Given the description of an element on the screen output the (x, y) to click on. 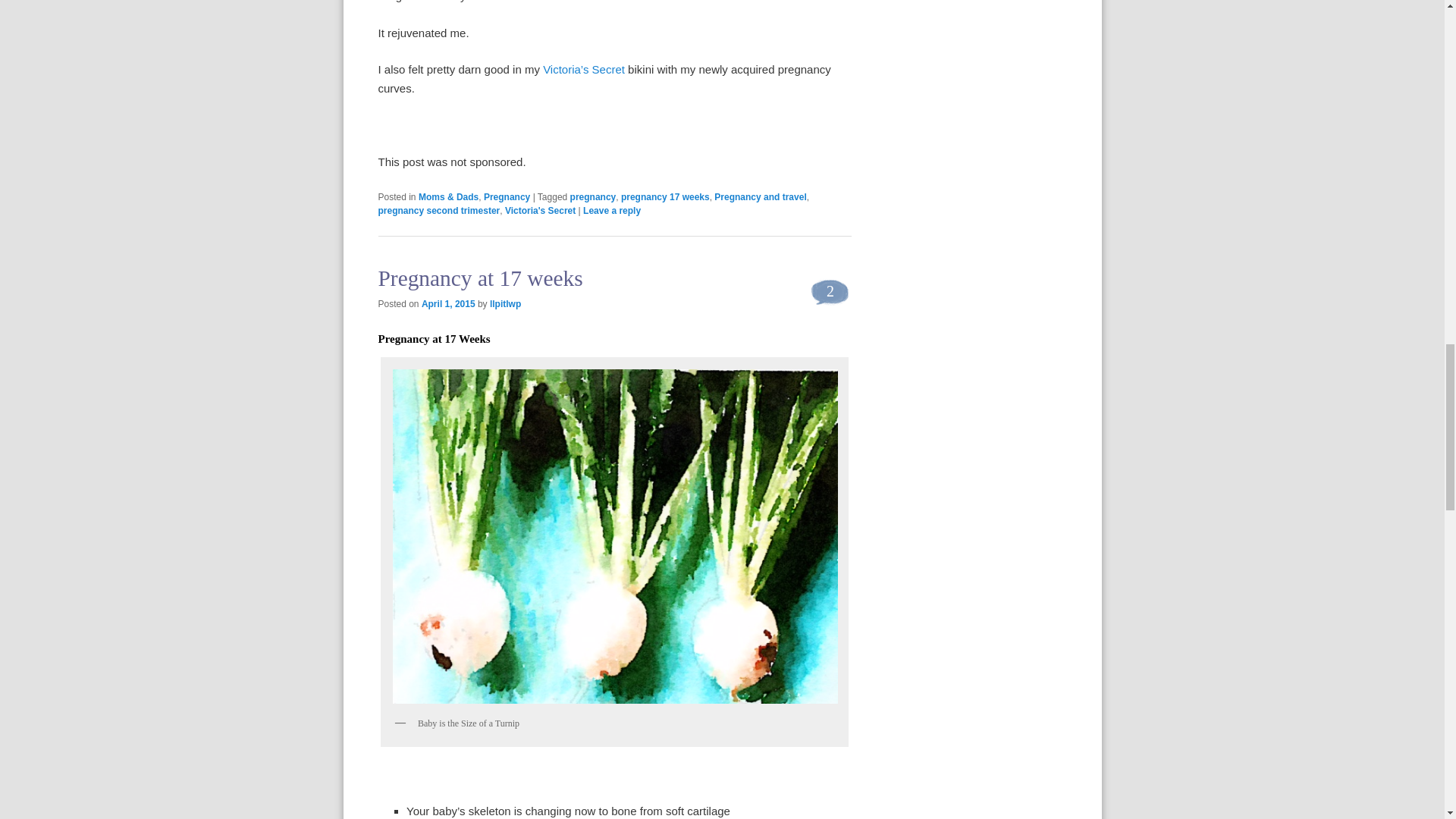
View all posts by llpitlwp (505, 303)
Pregnancy and travel (760, 196)
Permalink to Pregnancy at 17 weeks (479, 278)
pregnancy (592, 196)
Pregnancy (506, 196)
pregnancy second trimester (438, 210)
2:40 pm (449, 303)
pregnancy 17 weeks (665, 196)
